Given the description of an element on the screen output the (x, y) to click on. 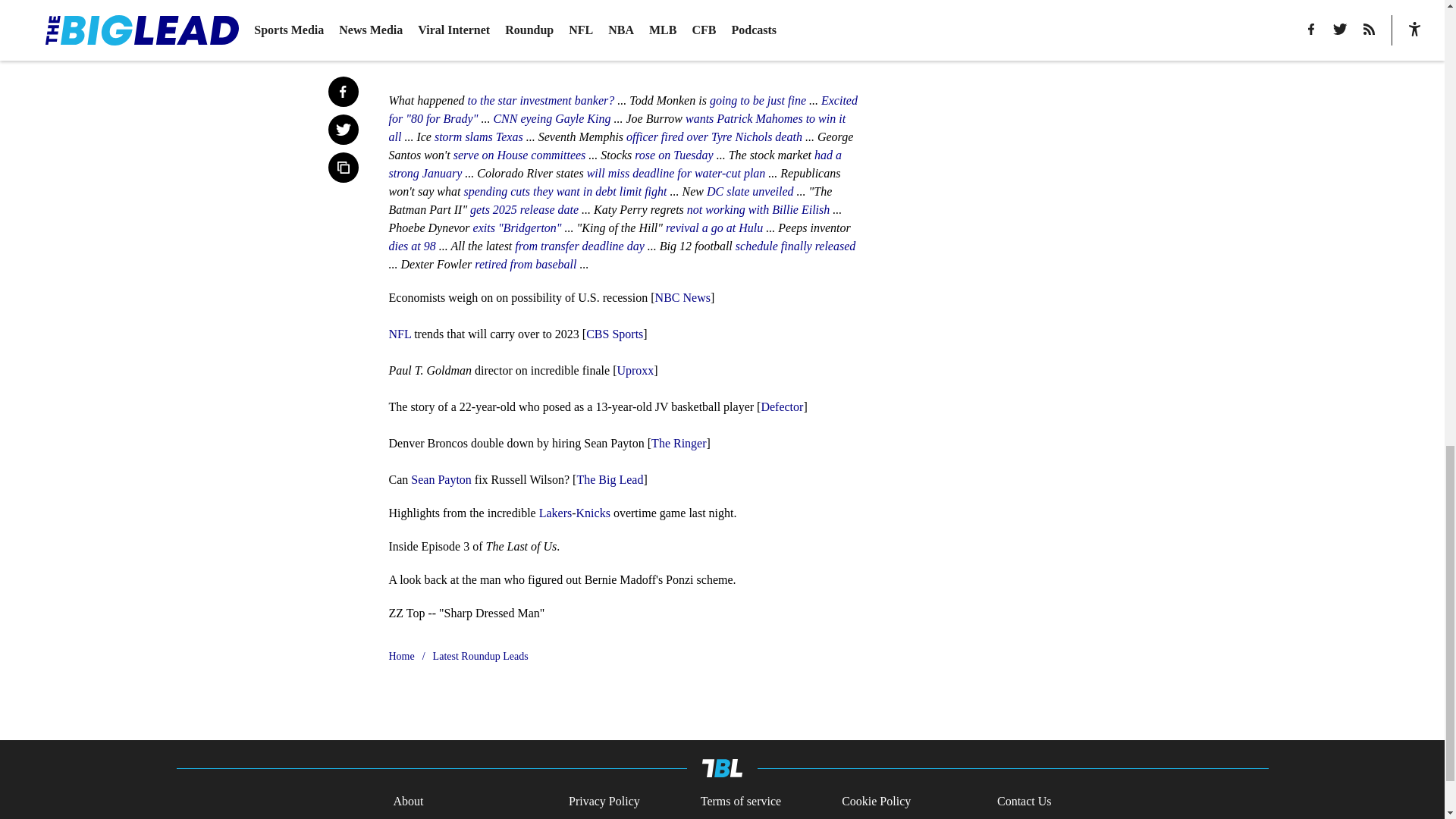
will miss deadline for water-cut plan (674, 173)
dies at 98 (411, 245)
exits "Bridgerton" (517, 227)
officer fired over Tyre Nichols death (714, 136)
Excited for "80 for Brady" (622, 109)
rose on Tuesday (673, 154)
wants Patrick Mahomes to win it all (616, 127)
not working with Billie Eilish (758, 209)
gets 2025 release date (524, 209)
spending cuts they want in debt limit fight (564, 191)
